Given the description of an element on the screen output the (x, y) to click on. 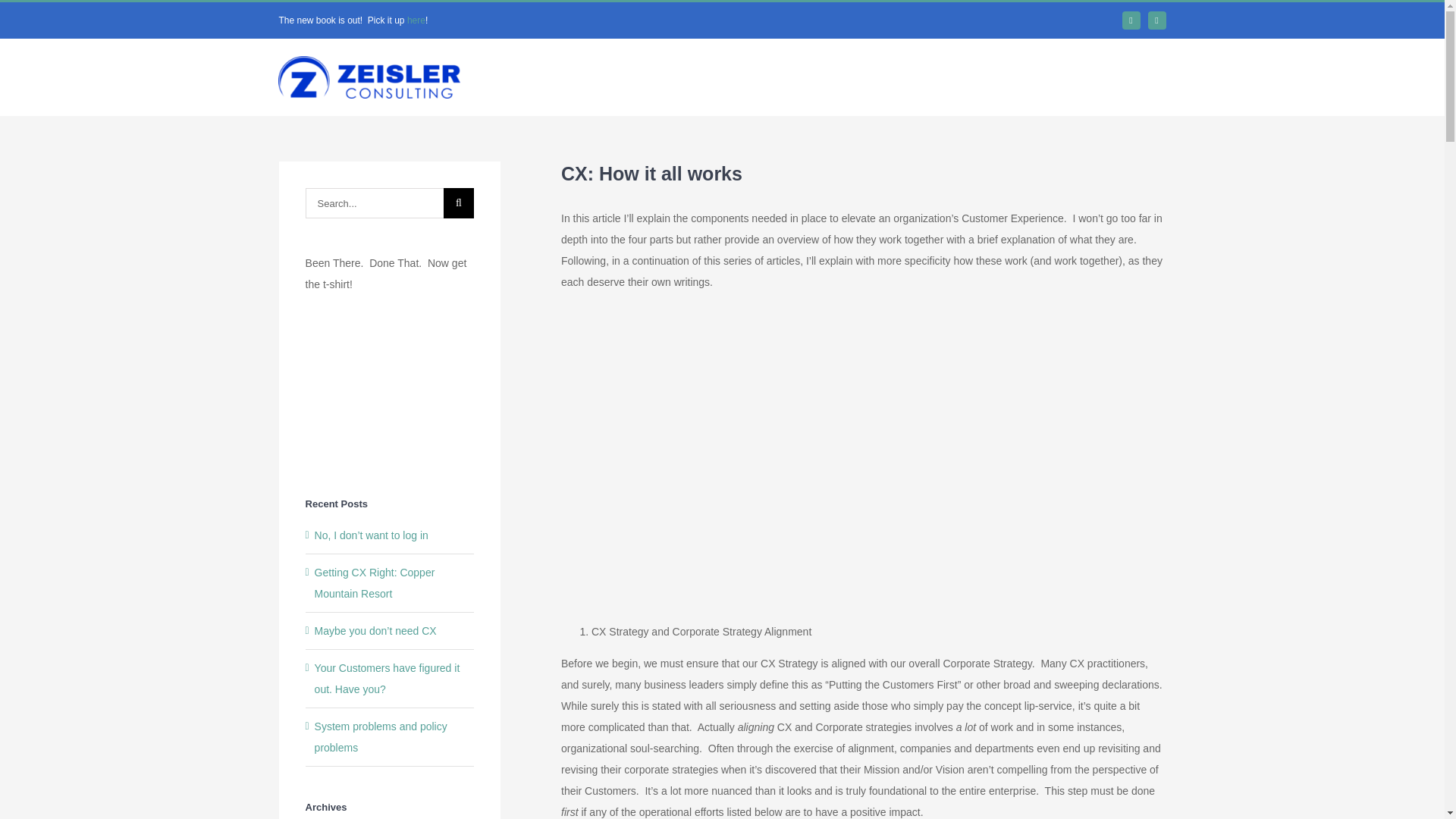
LinkedIn (1131, 20)
Email (1157, 20)
here (416, 20)
